Given the description of an element on the screen output the (x, y) to click on. 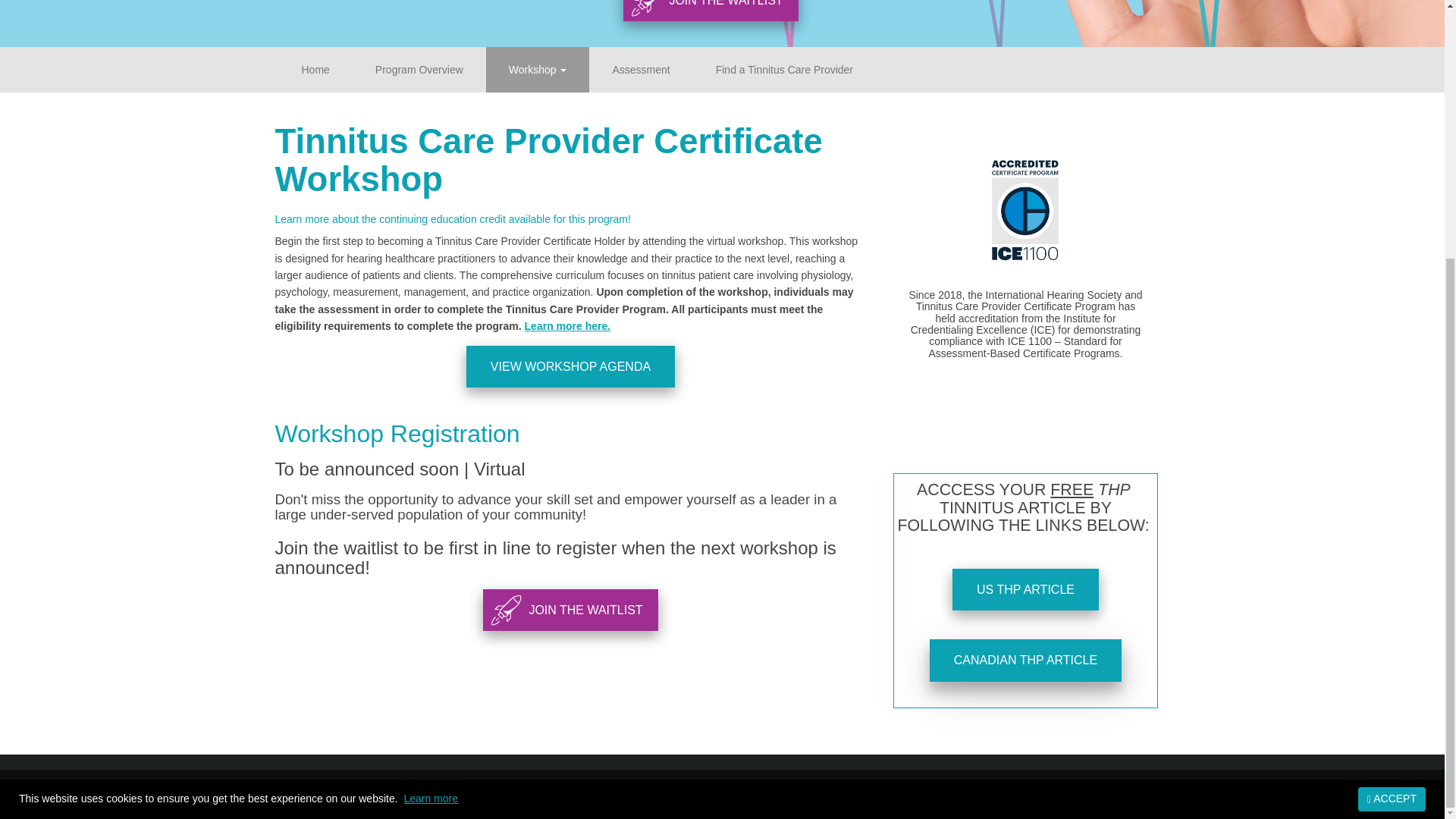
JOIN THE WAITLIST (570, 609)
Find a Tinnitus Care Provider (784, 69)
Program Overview (419, 69)
Learn more here. (567, 326)
 ACCEPT (1391, 429)
Home (315, 69)
JOIN THE WAITLIST (710, 10)
Learn more (430, 428)
Powered by Higher Logic (721, 810)
US THP ARTICLE (1025, 589)
Assessment (641, 69)
Workshop (537, 69)
CANADIAN THP ARTICLE (1025, 660)
VIEW WORKSHOP AGENDA (570, 366)
